Given the description of an element on the screen output the (x, y) to click on. 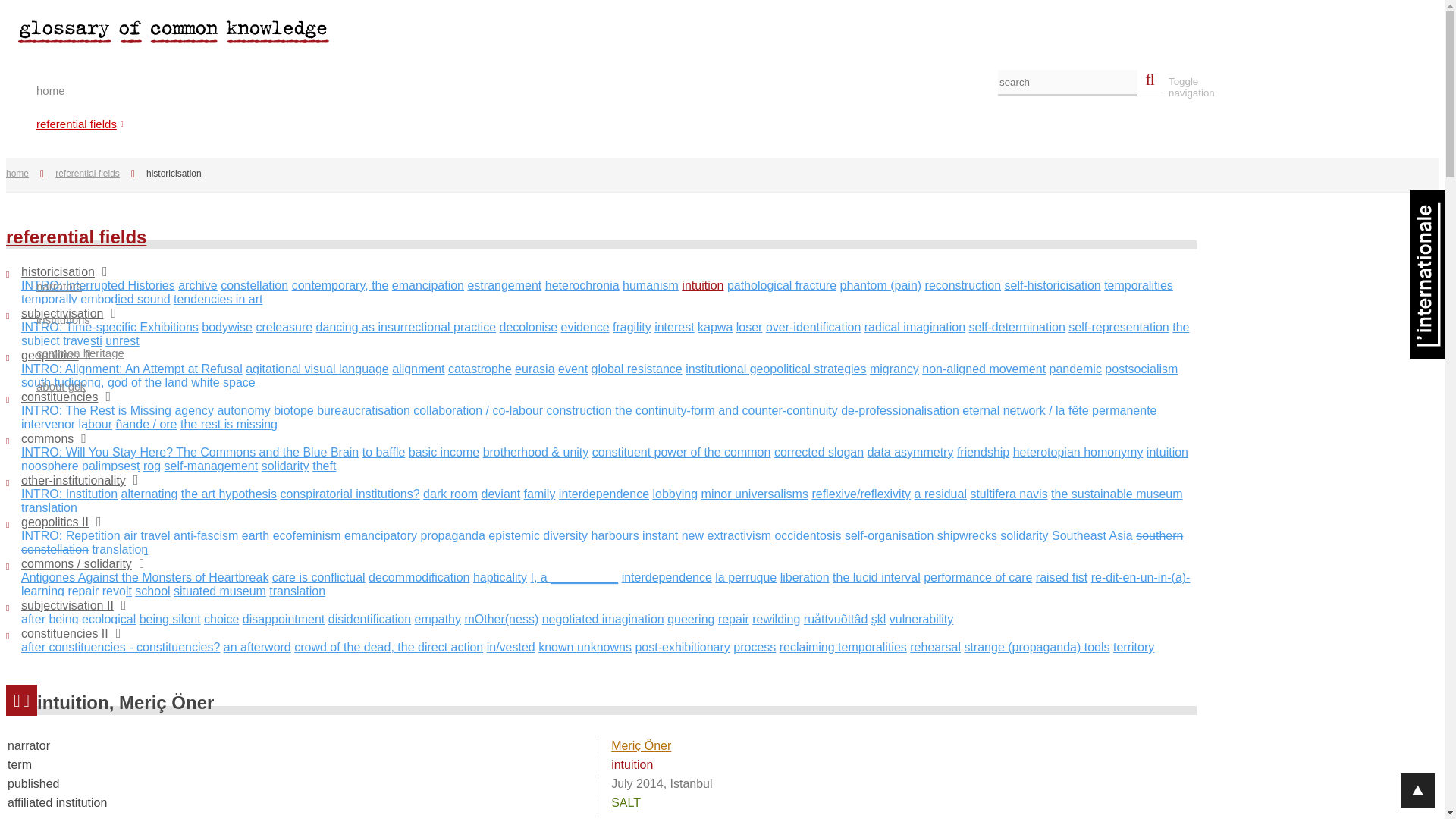
subjectivisation (68, 312)
emancipation (427, 285)
temporally embodied sound (95, 298)
home (22, 173)
INTRO: Interrupted Histories (97, 285)
heterochronia (582, 285)
institutions (616, 317)
intuition (702, 285)
self-historicisation (1052, 285)
referential fields (616, 121)
